Given the description of an element on the screen output the (x, y) to click on. 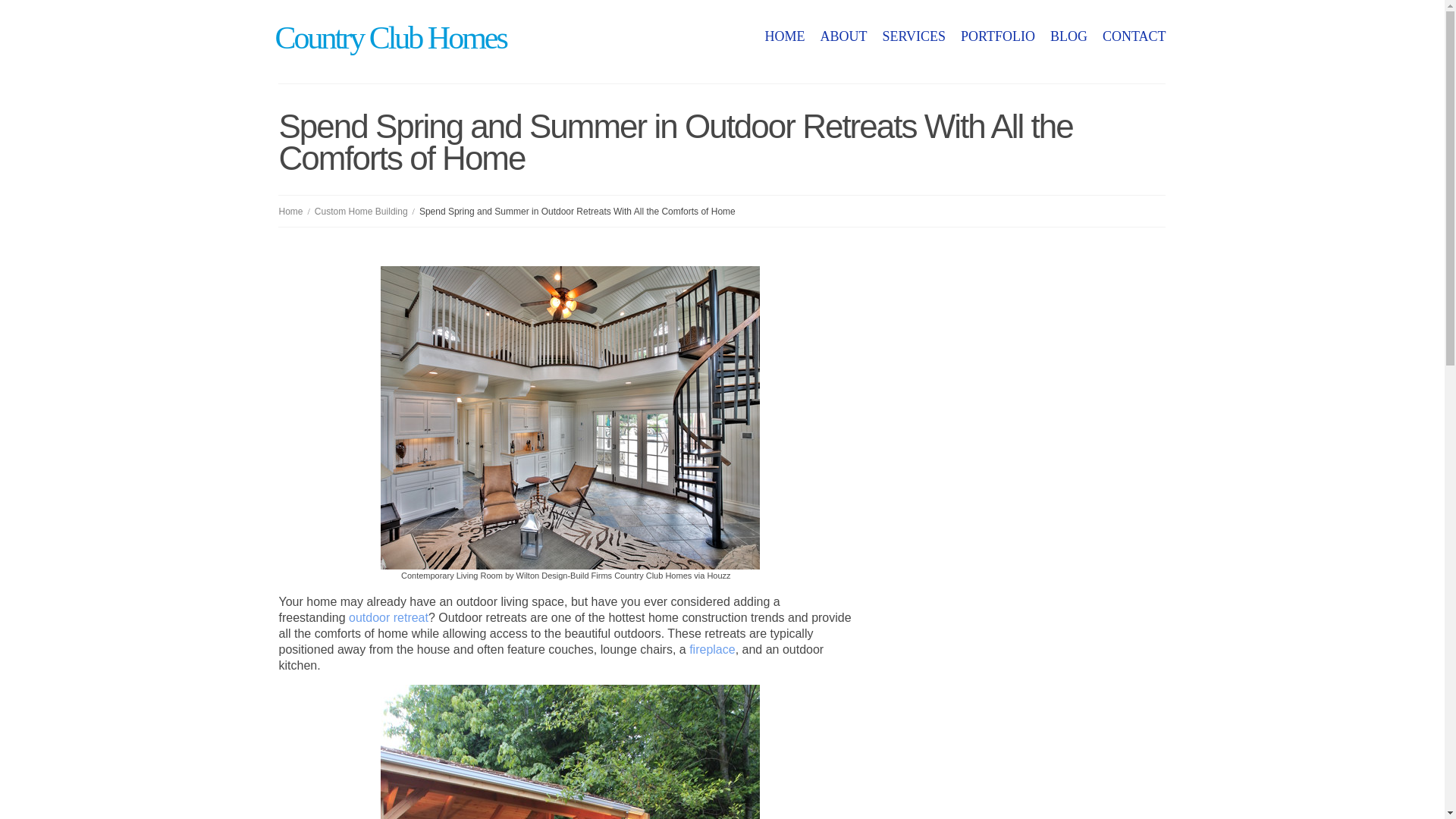
SERVICES (913, 36)
Home (290, 211)
PORTFOLIO (997, 36)
fireplace (711, 649)
outdoor retreat (388, 617)
Custom Home Building (360, 211)
CONTACT (1134, 36)
ABOUT (842, 36)
HOME (784, 36)
Country Club Homes (390, 37)
BLOG (1068, 36)
